Given the description of an element on the screen output the (x, y) to click on. 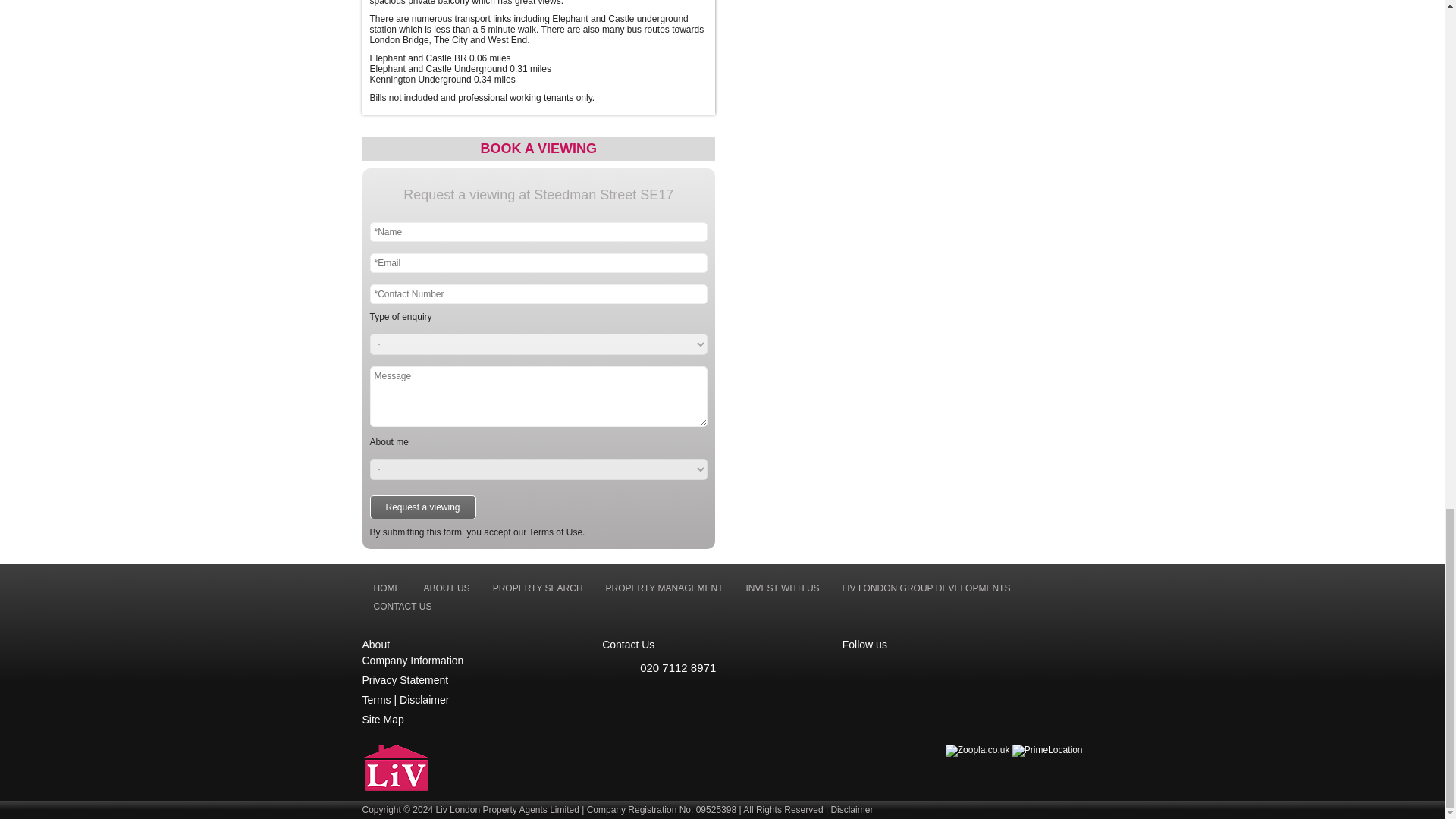
Request a viewing (422, 507)
Linked In (861, 669)
CONTACT US (403, 606)
HOME (387, 588)
020 7112 8971 (722, 667)
Company Information (413, 660)
PROPERTY MANAGEMENT (664, 588)
Facebook (899, 669)
Disclaimer (423, 699)
LIV LONDON GROUP DEVELOPMENTS (926, 588)
